Given the description of an element on the screen output the (x, y) to click on. 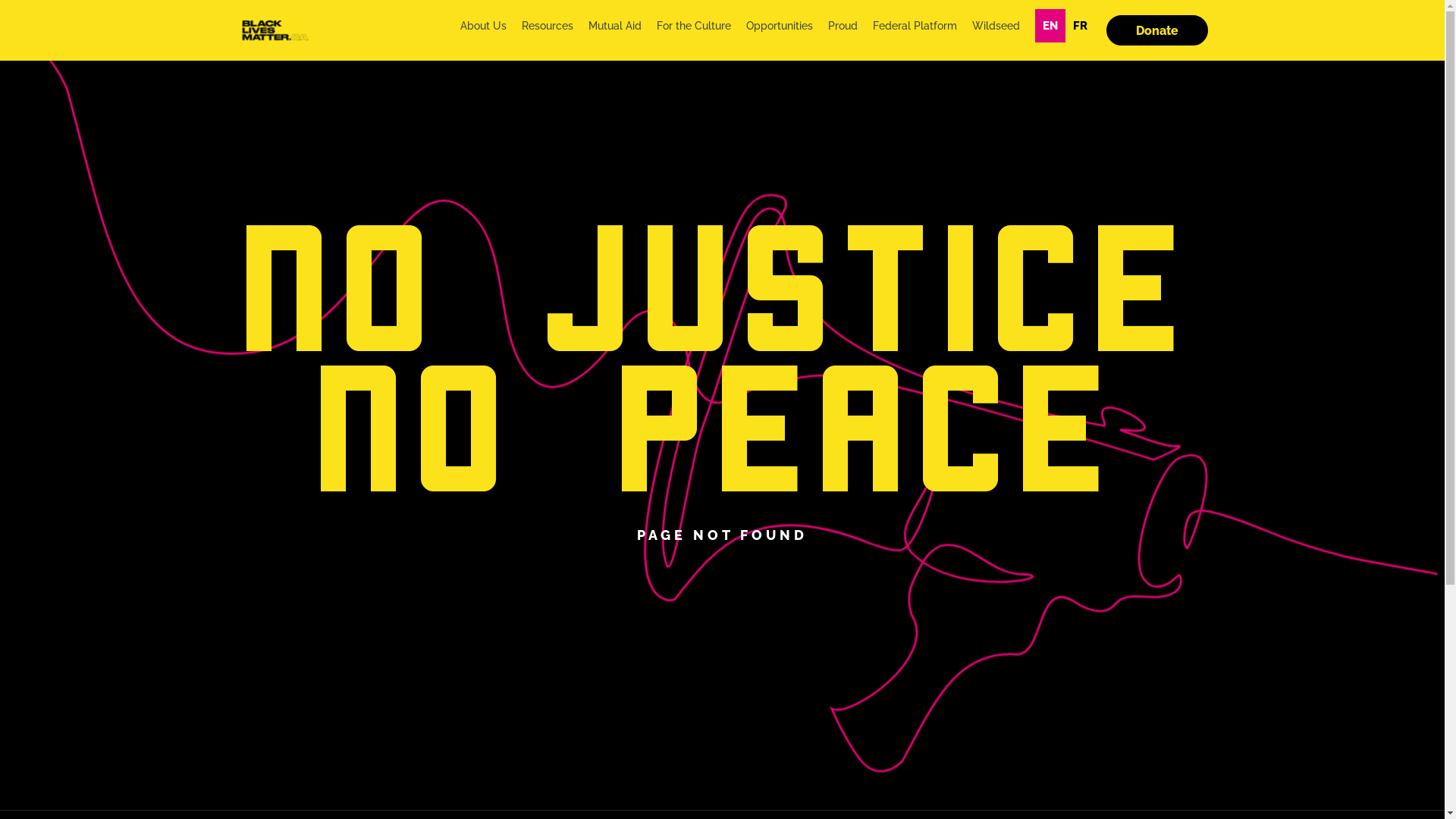
About Us Element type: text (483, 25)
EN Element type: text (1049, 25)
Federal Platform Element type: text (914, 25)
Mutual Aid Element type: text (613, 25)
Donate Element type: text (1156, 30)
Resources Element type: text (546, 25)
FR Element type: text (1079, 25)
Proud Element type: text (841, 25)
For the Culture Element type: text (693, 25)
Opportunities Element type: text (778, 25)
Wildseed Element type: text (994, 25)
